Given the description of an element on the screen output the (x, y) to click on. 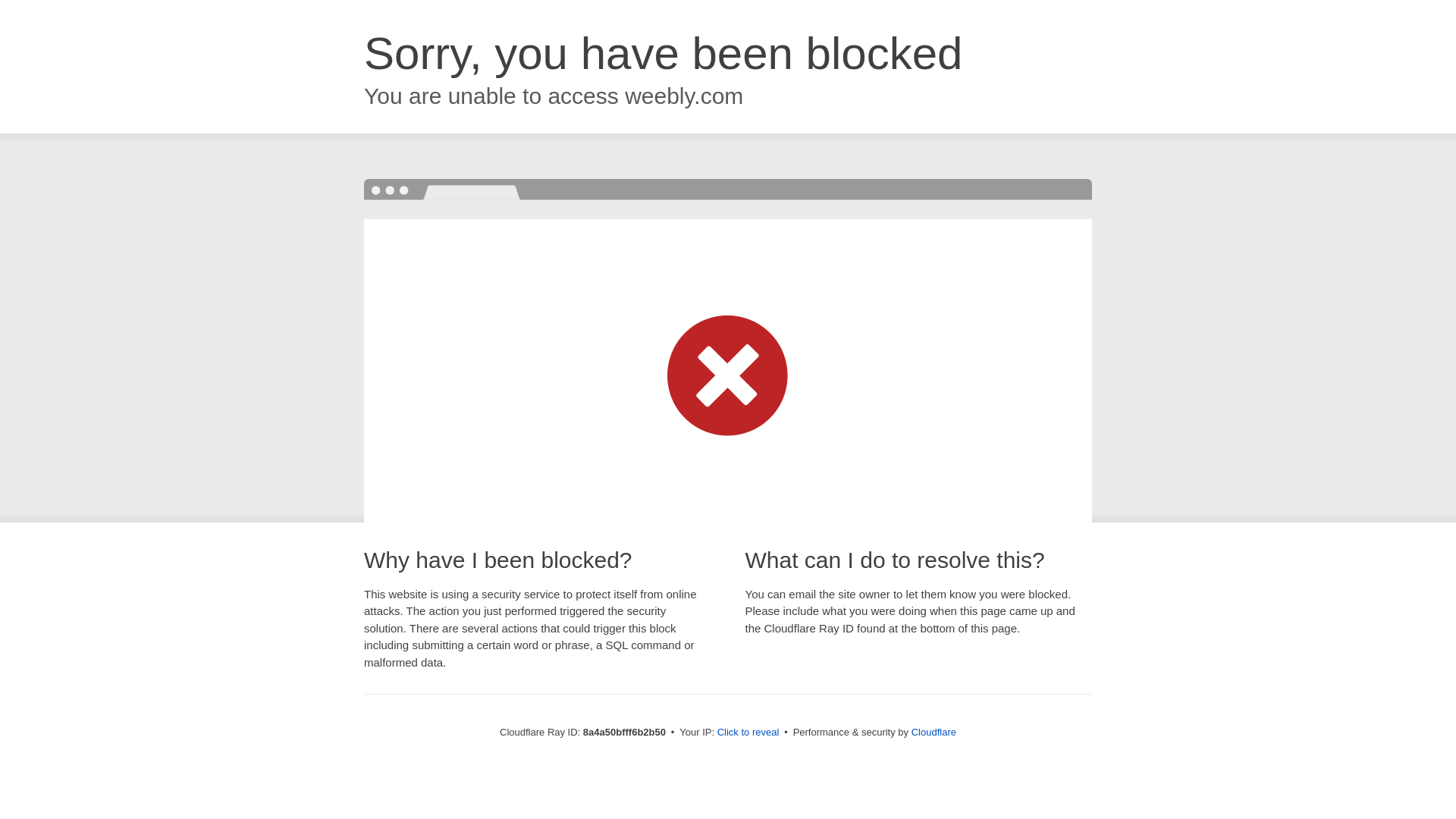
Click to reveal (747, 732)
Cloudflare (933, 731)
